Given the description of an element on the screen output the (x, y) to click on. 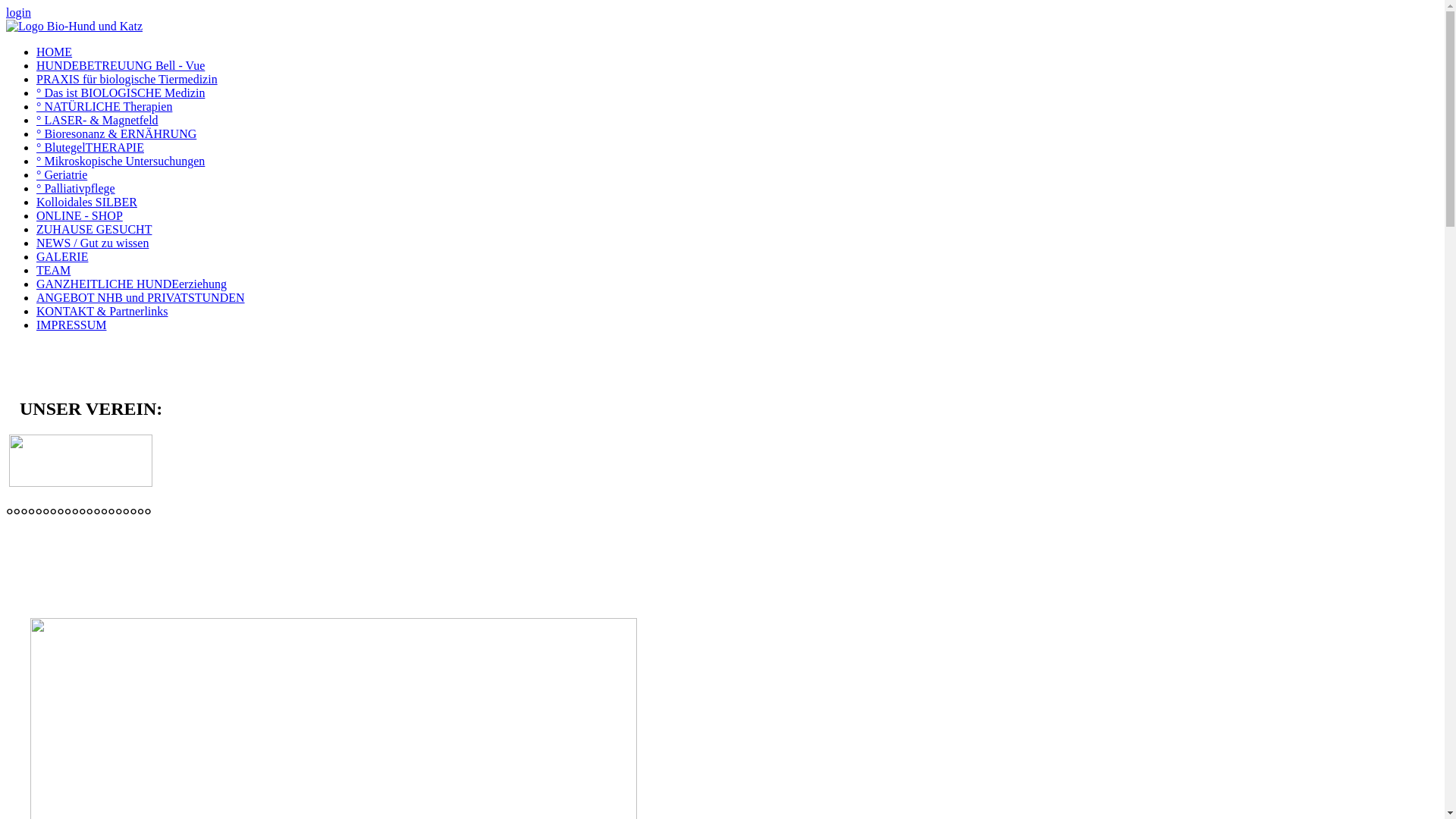
ONLINE - SHOP Element type: text (79, 215)
Kolloidales SILBER Element type: text (86, 201)
HUNDEBETREUUNG Bell - Vue Element type: text (120, 65)
ZUHAUSE GESUCHT Element type: text (93, 228)
HOME Element type: text (54, 51)
GALERIE Element type: text (61, 256)
GANZHEITLICHE HUNDEerziehung Element type: text (131, 283)
IMPRESSUM Element type: text (71, 324)
Bio-Hund und Katz Element type: hover (74, 26)
TEAM Element type: text (53, 269)
ANGEBOT NHB und PRIVATSTUNDEN Element type: text (140, 297)
NEWS / Gut zu wissen Element type: text (92, 242)
KONTAKT & Partnerlinks Element type: text (102, 310)
login Element type: text (18, 12)
